Given the description of an element on the screen output the (x, y) to click on. 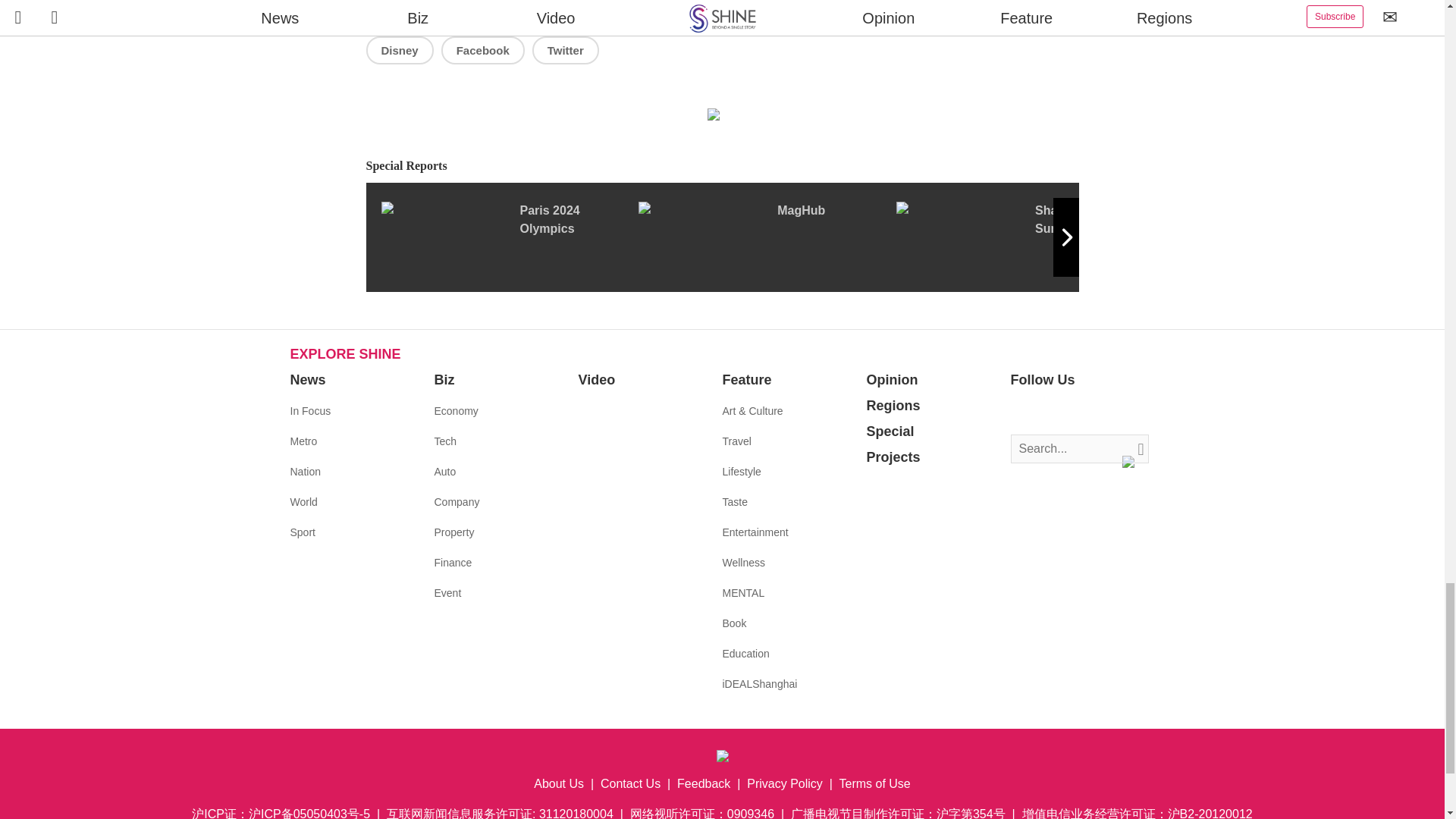
Follow us on Instagram (1067, 411)
Follow us on Twitter (1044, 411)
Follow us on Youtube (1090, 411)
MagHub (767, 236)
Special Reports (721, 166)
Disney (398, 50)
Twitter (565, 50)
Facebook (482, 50)
Shanghai Summer (1024, 236)
Paris 2024 Olympics (508, 236)
Follow us on Wechat (1112, 411)
Follow us on Facebook (1021, 411)
